Given the description of an element on the screen output the (x, y) to click on. 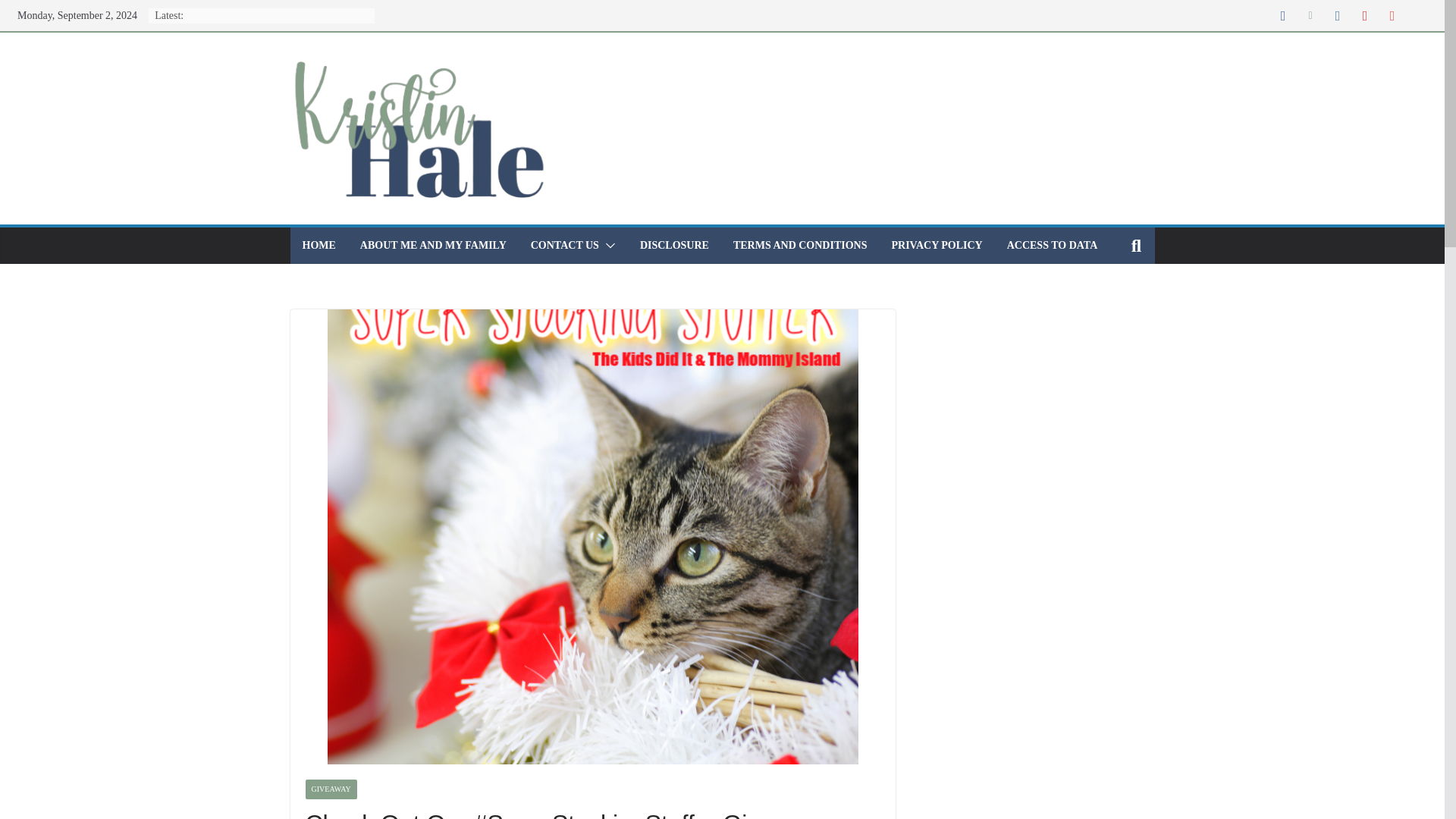
CONTACT US (564, 245)
HOME (317, 245)
DISCLOSURE (674, 245)
GIVEAWAY (330, 789)
ABOUT ME AND MY FAMILY (432, 245)
TERMS AND CONDITIONS (800, 245)
PRIVACY POLICY (936, 245)
ACCESS TO DATA (1052, 245)
